Given the description of an element on the screen output the (x, y) to click on. 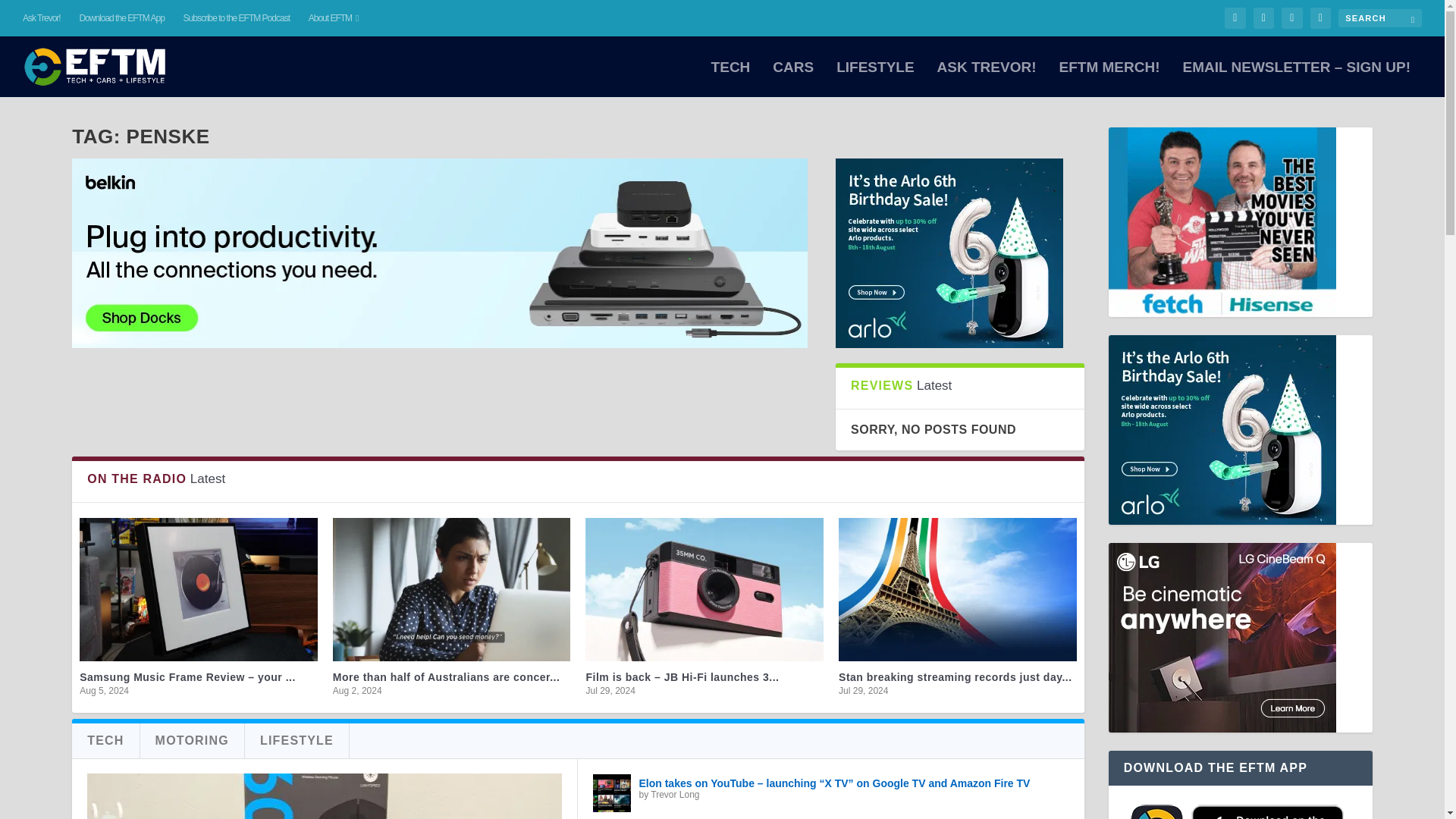
Stan breaking streaming records just day... (954, 676)
Posts by Trevor Long (674, 794)
LIFESTYLE (874, 79)
ASK TREVOR! (986, 79)
EFTM MERCH! (1108, 79)
Ask Trevor! (42, 18)
Download the EFTM App (120, 18)
CARS (793, 79)
Search for: (1380, 18)
